Given the description of an element on the screen output the (x, y) to click on. 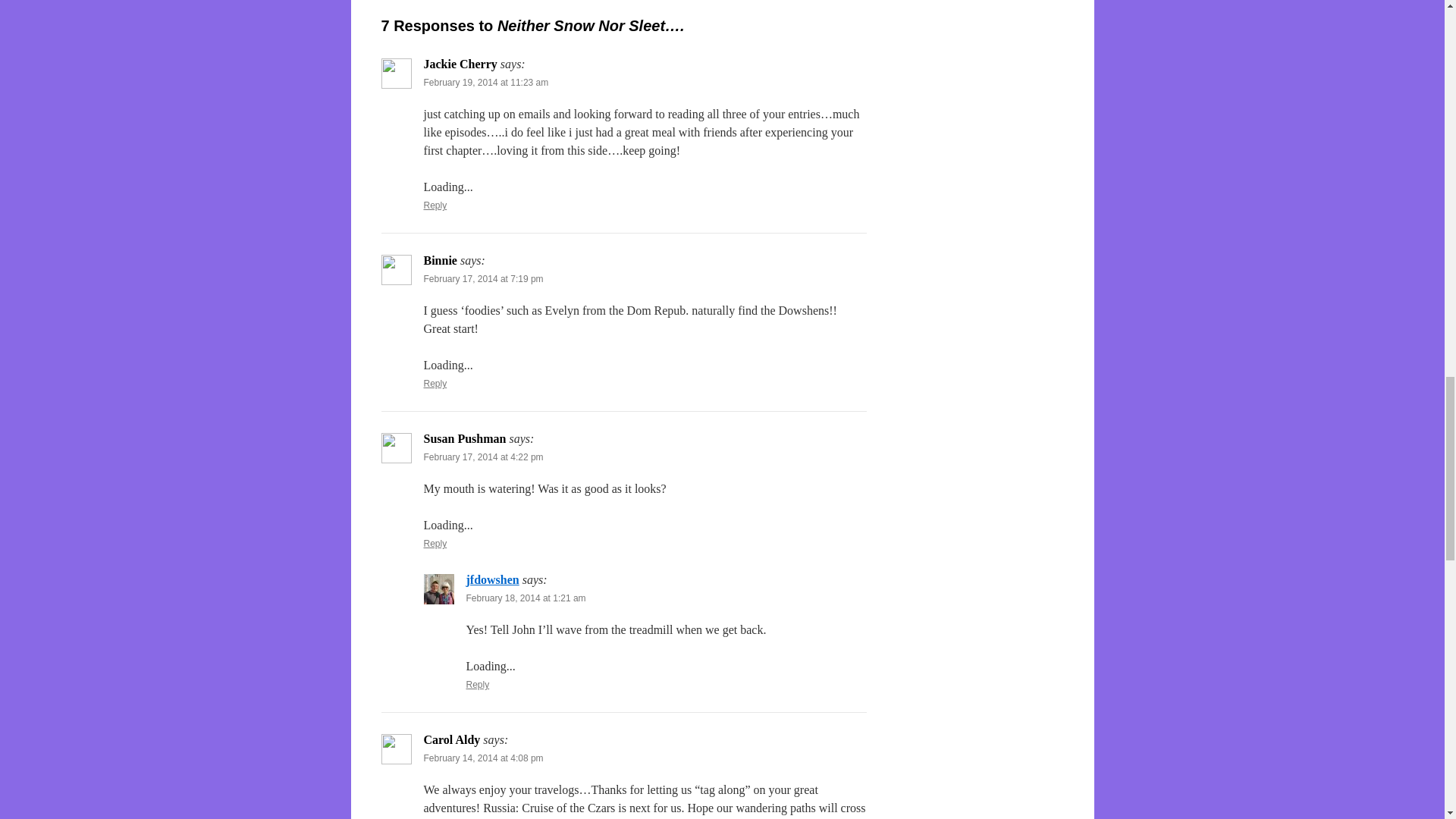
February 17, 2014 at 4:22 pm (483, 457)
February 14, 2014 at 4:08 pm (483, 757)
Reply (434, 543)
Reply (477, 684)
February 17, 2014 at 7:19 pm (483, 278)
jfdowshen (491, 579)
Reply (434, 383)
Reply (434, 204)
February 19, 2014 at 11:23 am (485, 81)
February 18, 2014 at 1:21 am (525, 597)
